Given the description of an element on the screen output the (x, y) to click on. 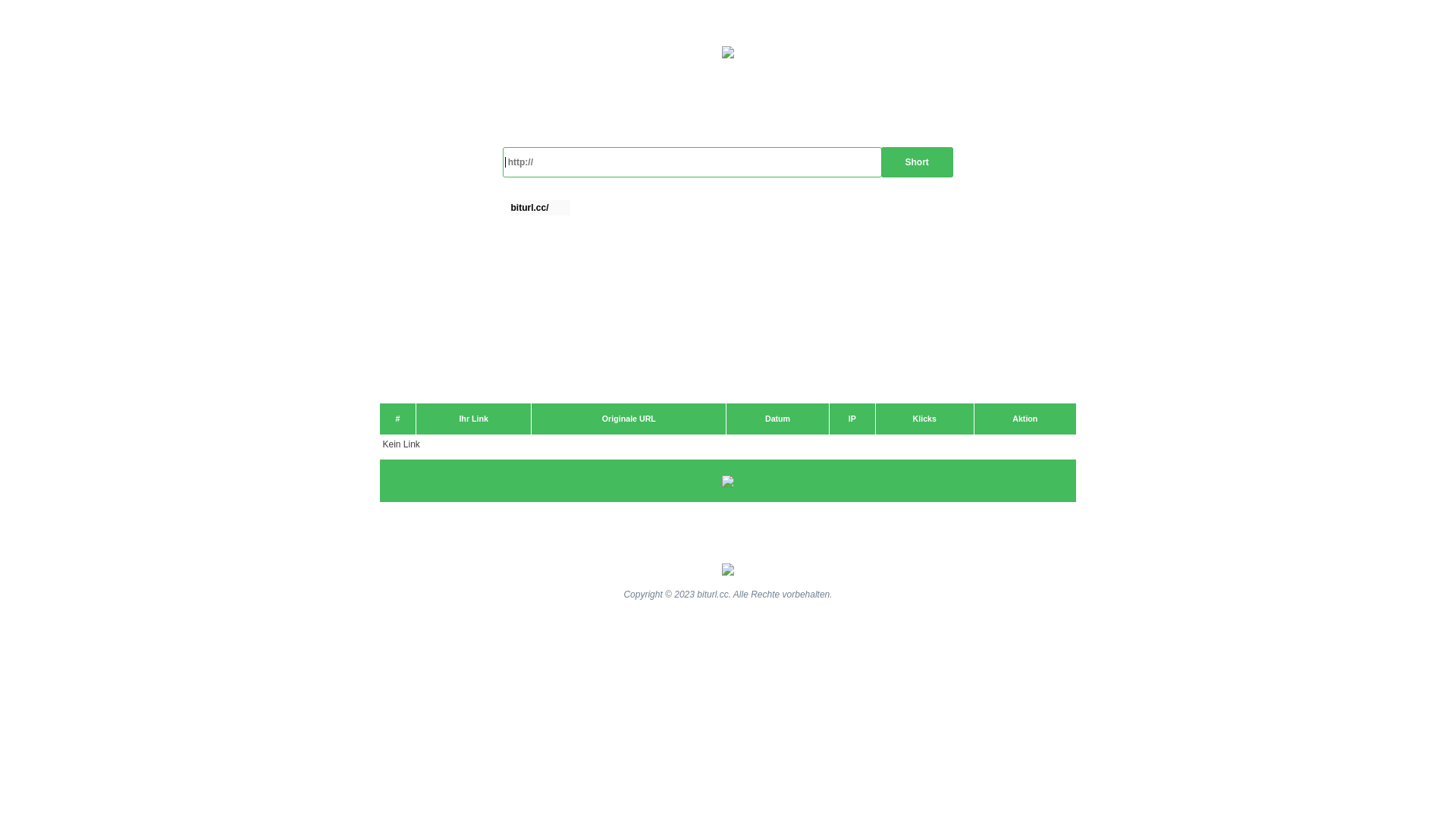
KONTAKT Element type: text (1404, 27)
ANMELDEN Element type: text (1258, 27)
LOGIN Element type: text (1333, 27)
Short Element type: text (917, 162)
STARTSEITE Element type: text (1167, 27)
